Given the description of an element on the screen output the (x, y) to click on. 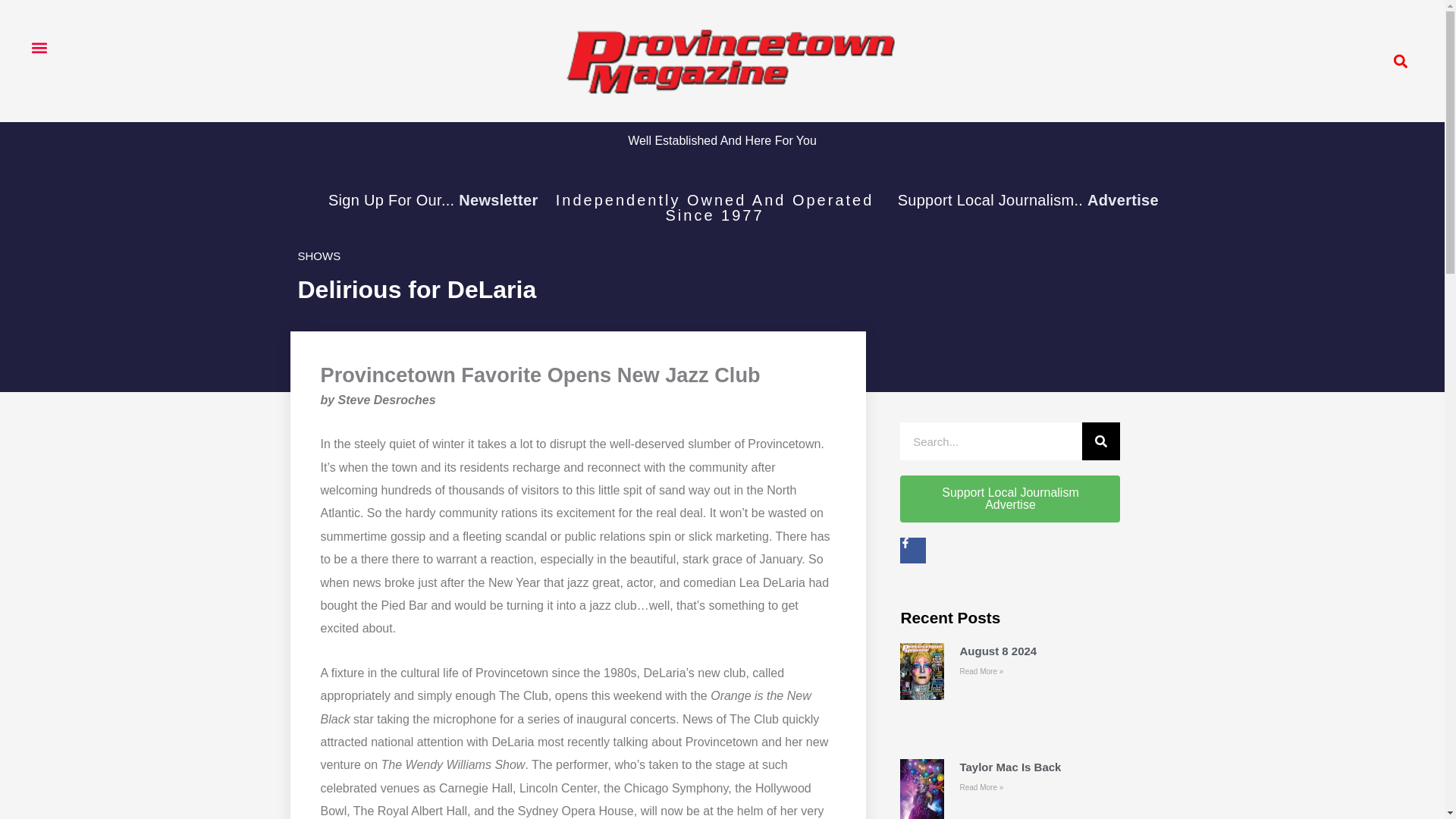
Taylor Mac Is Back (1010, 766)
SHOWS (318, 255)
August 8 2024 (997, 650)
Support Local Journalism Advertise (1009, 498)
Facebook-f (912, 550)
Search (1100, 441)
